Given the description of an element on the screen output the (x, y) to click on. 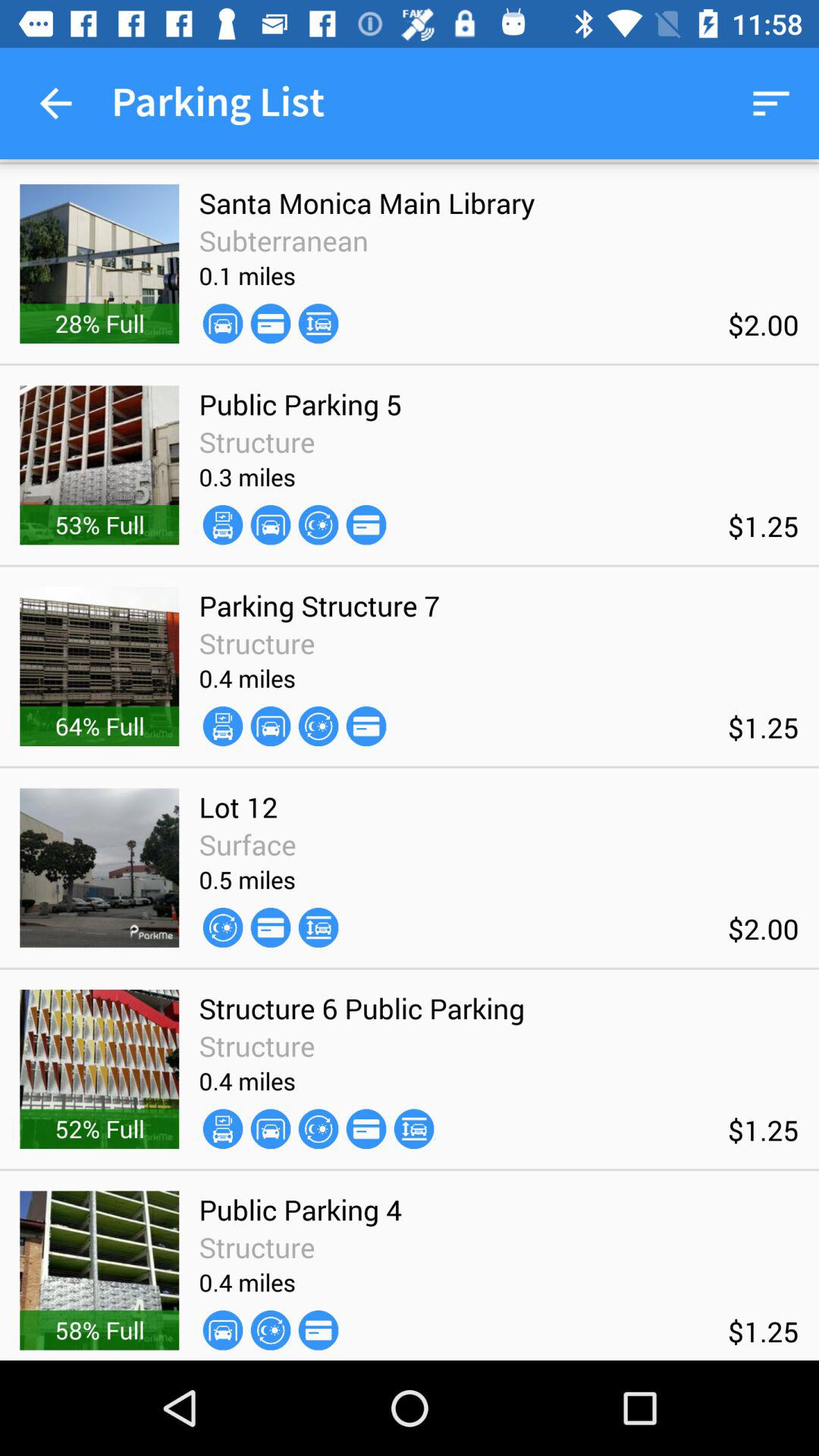
turn off the item below 0.3 miles (222, 524)
